Given the description of an element on the screen output the (x, y) to click on. 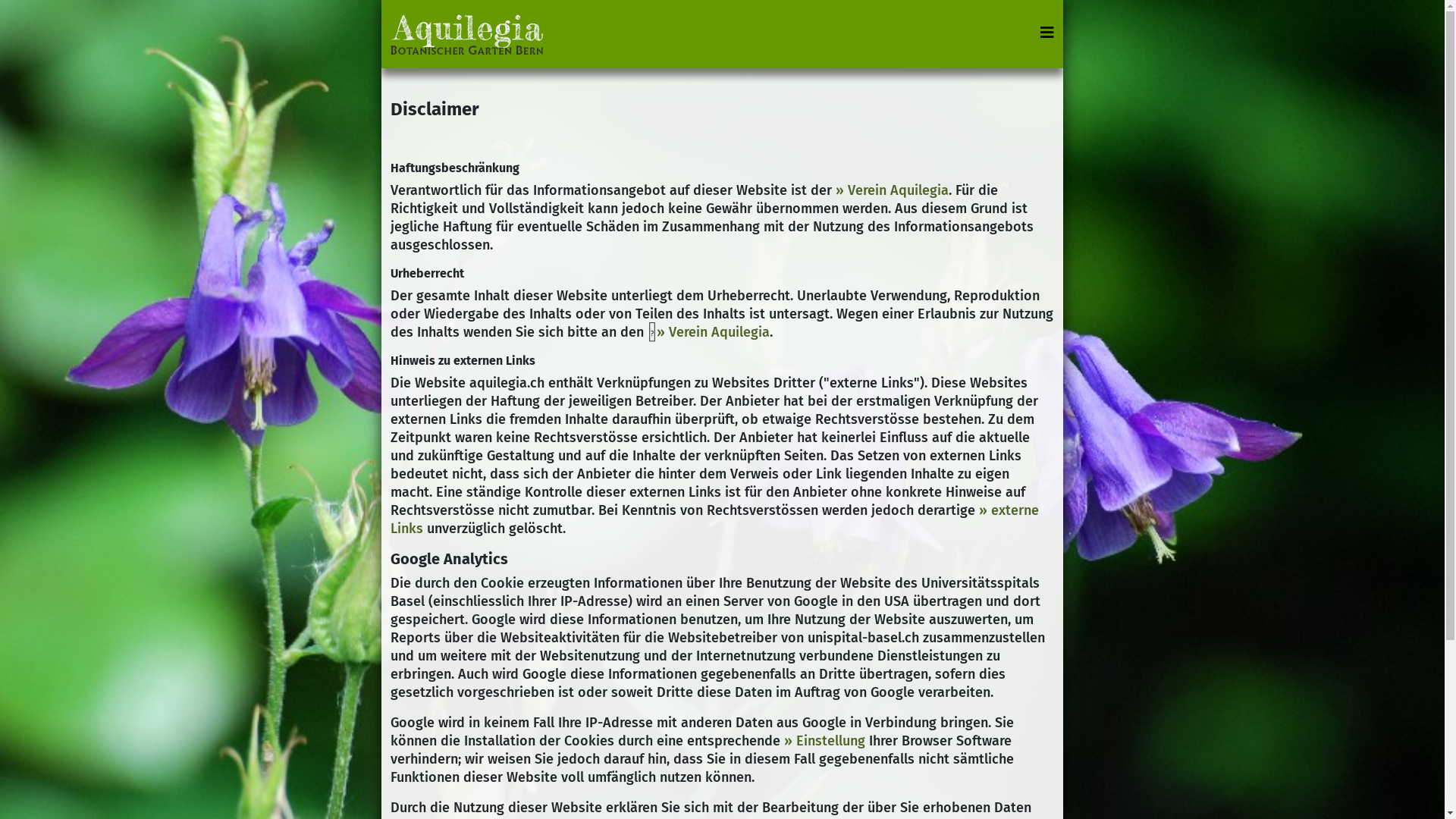
Helix3 Megamenu Options Element type: hover (1047, 32)
